Given the description of an element on the screen output the (x, y) to click on. 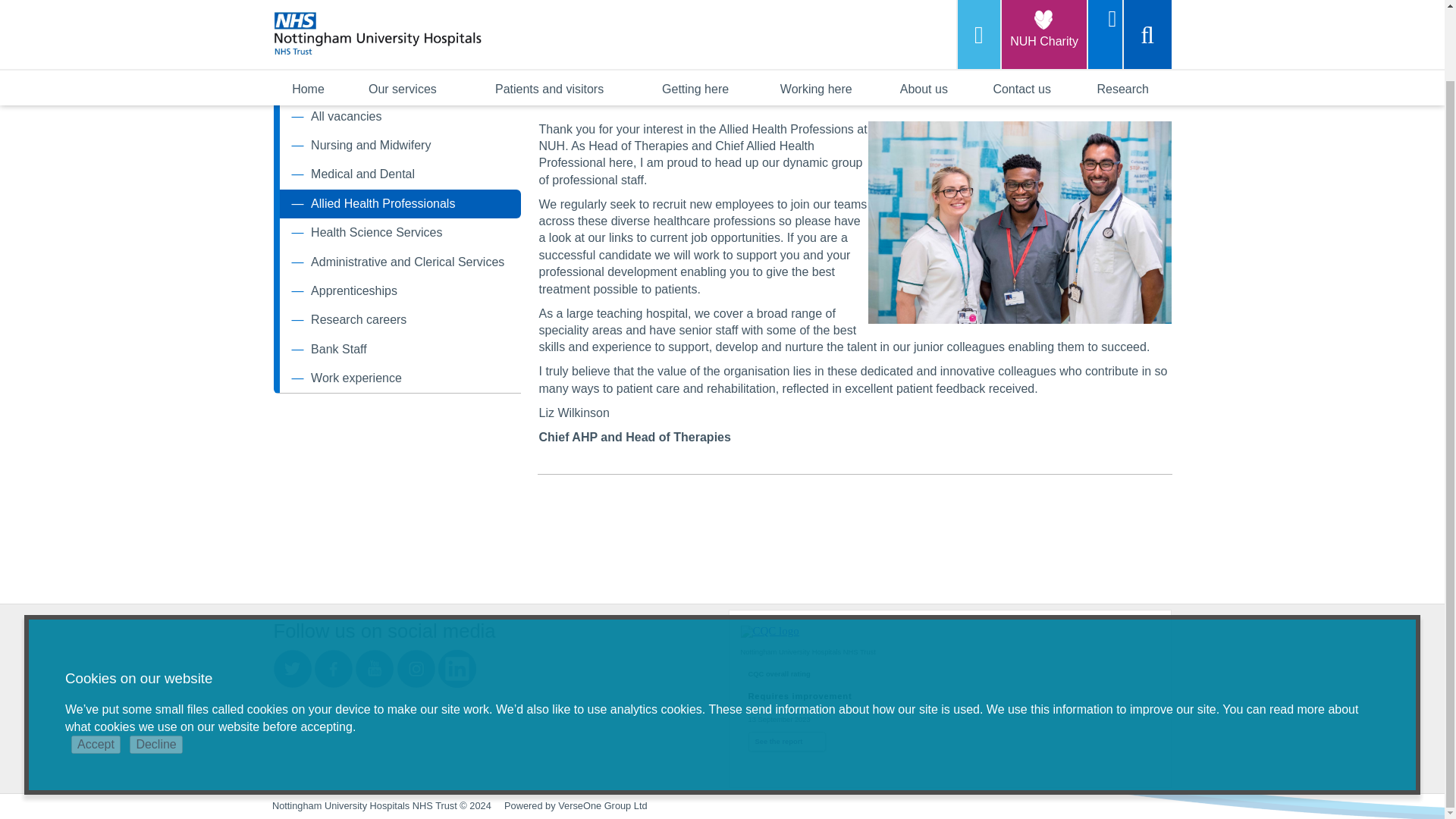
Accept (95, 665)
Our services (401, 13)
CQC Logo (768, 630)
Home (307, 13)
Link to NUH Twitter account (292, 668)
Patients and visitors (549, 13)
Decline (155, 665)
